Given the description of an element on the screen output the (x, y) to click on. 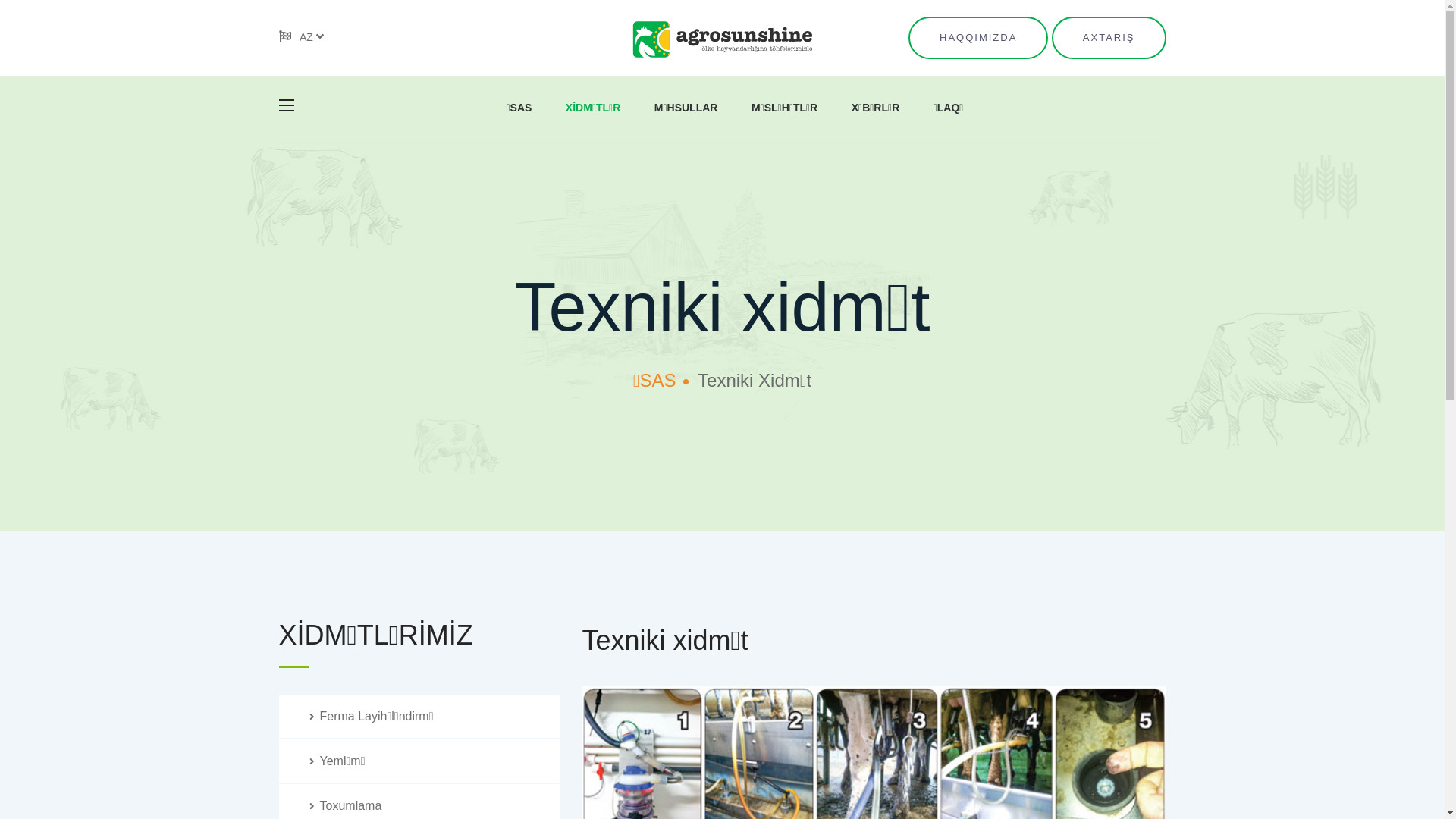
Toxumlama Element type: text (345, 805)
HAQQIMIZDA Element type: text (978, 37)
